Given the description of an element on the screen output the (x, y) to click on. 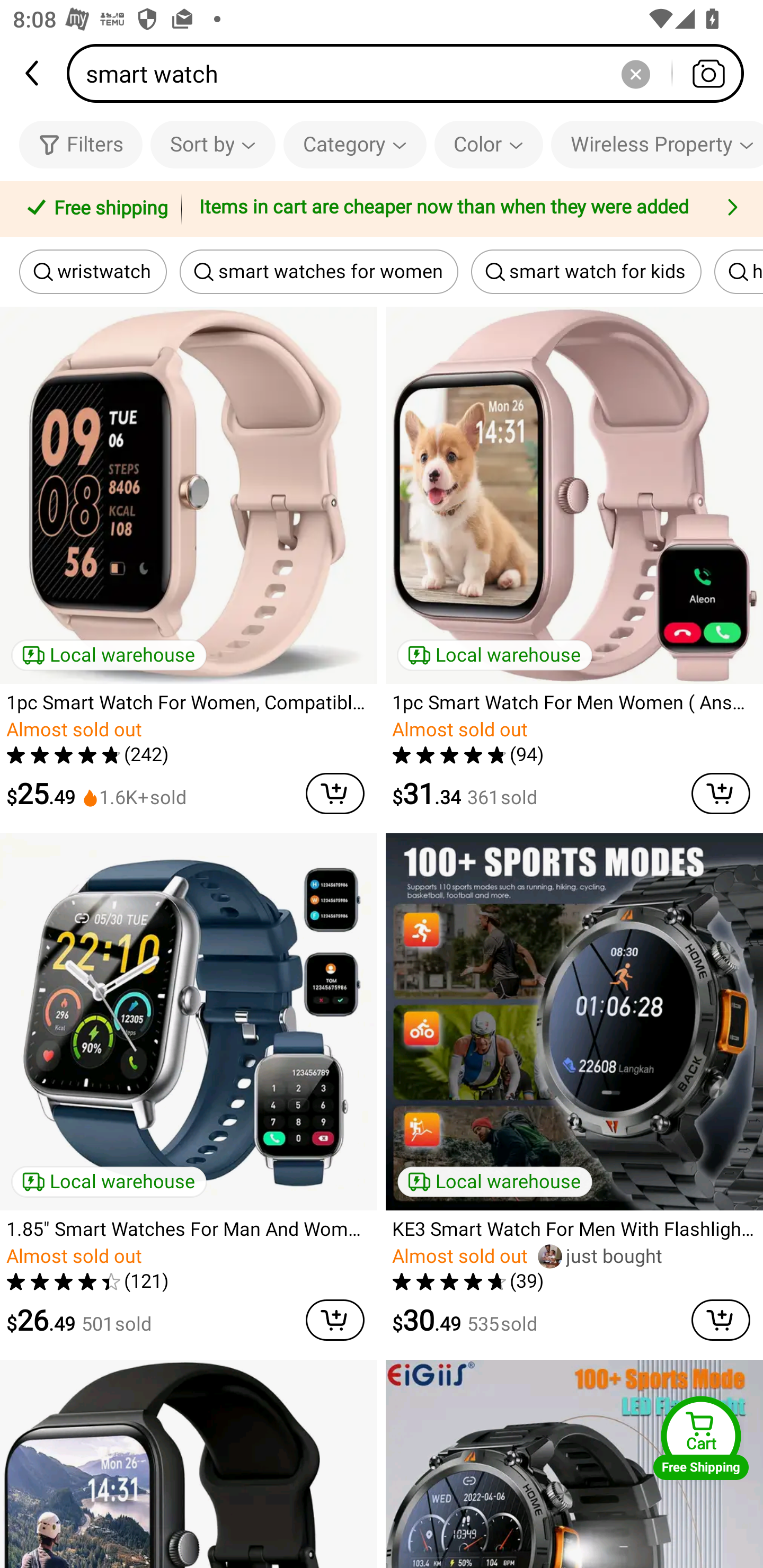
back (33, 72)
smart watch (411, 73)
Delete search history (635, 73)
Search by photo (708, 73)
Filters (80, 143)
Sort by (212, 143)
Category (354, 143)
Color (488, 143)
Wireless Property (656, 143)
 Free shipping (93, 208)
wristwatch (93, 271)
smart watches for women (318, 271)
smart watch for kids (585, 271)
headphones (738, 271)
cart delete (334, 793)
cart delete (720, 793)
cart delete (334, 1319)
cart delete (720, 1319)
Cart Free Shipping Cart (701, 1437)
